Given the description of an element on the screen output the (x, y) to click on. 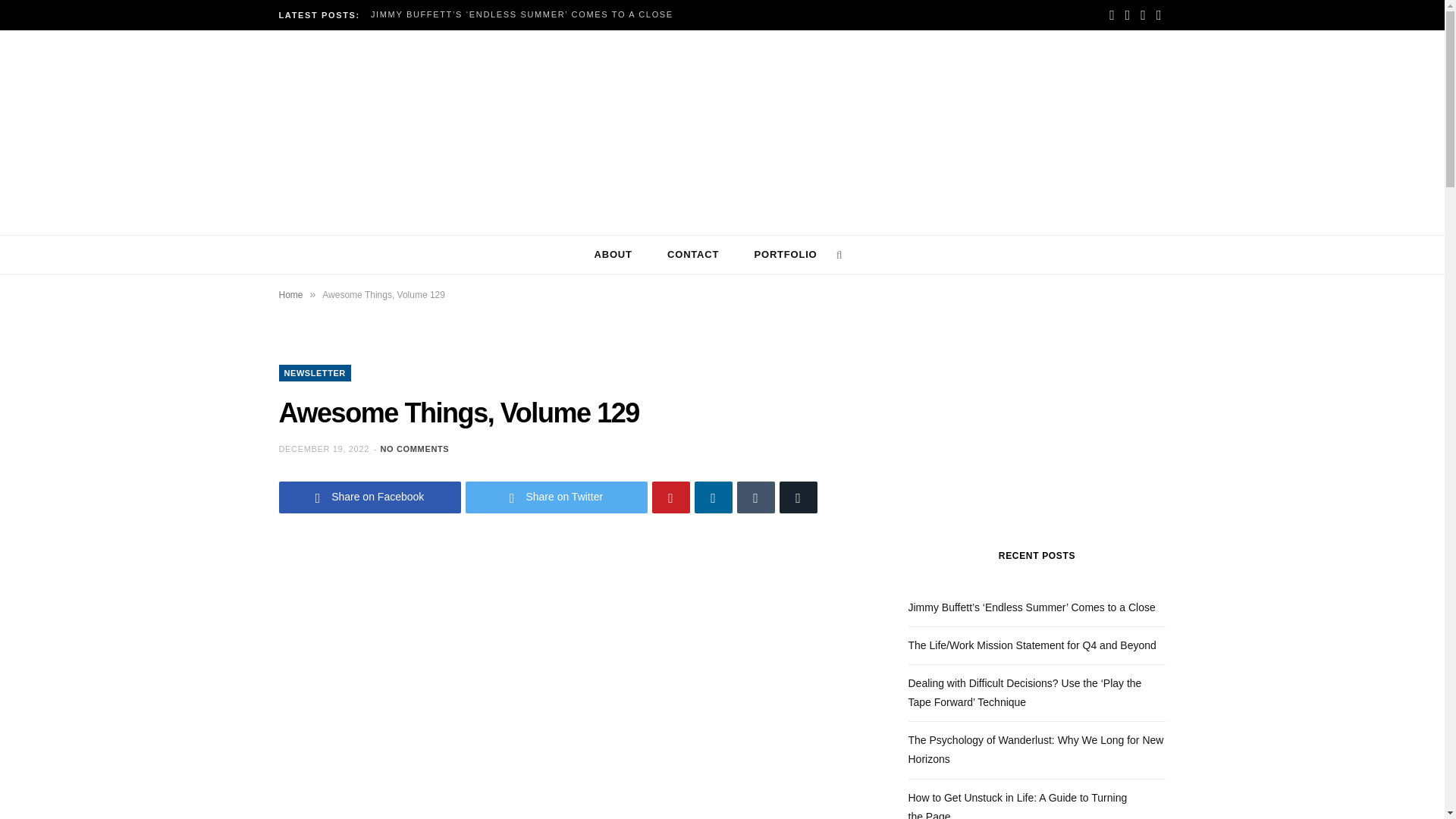
LinkedIn (1158, 15)
Home (290, 294)
Pinterest (671, 496)
NEWSLETTER (314, 372)
Share on Facebook (370, 496)
Facebook (1112, 15)
Share on Twitter (556, 496)
CONTACT (692, 254)
Instagram (1142, 15)
ABOUT (612, 254)
Share on Facebook (370, 496)
DECEMBER 19, 2022 (325, 448)
Twitter (1128, 15)
Share on Twitter (556, 496)
John Suder (721, 147)
